Given the description of an element on the screen output the (x, y) to click on. 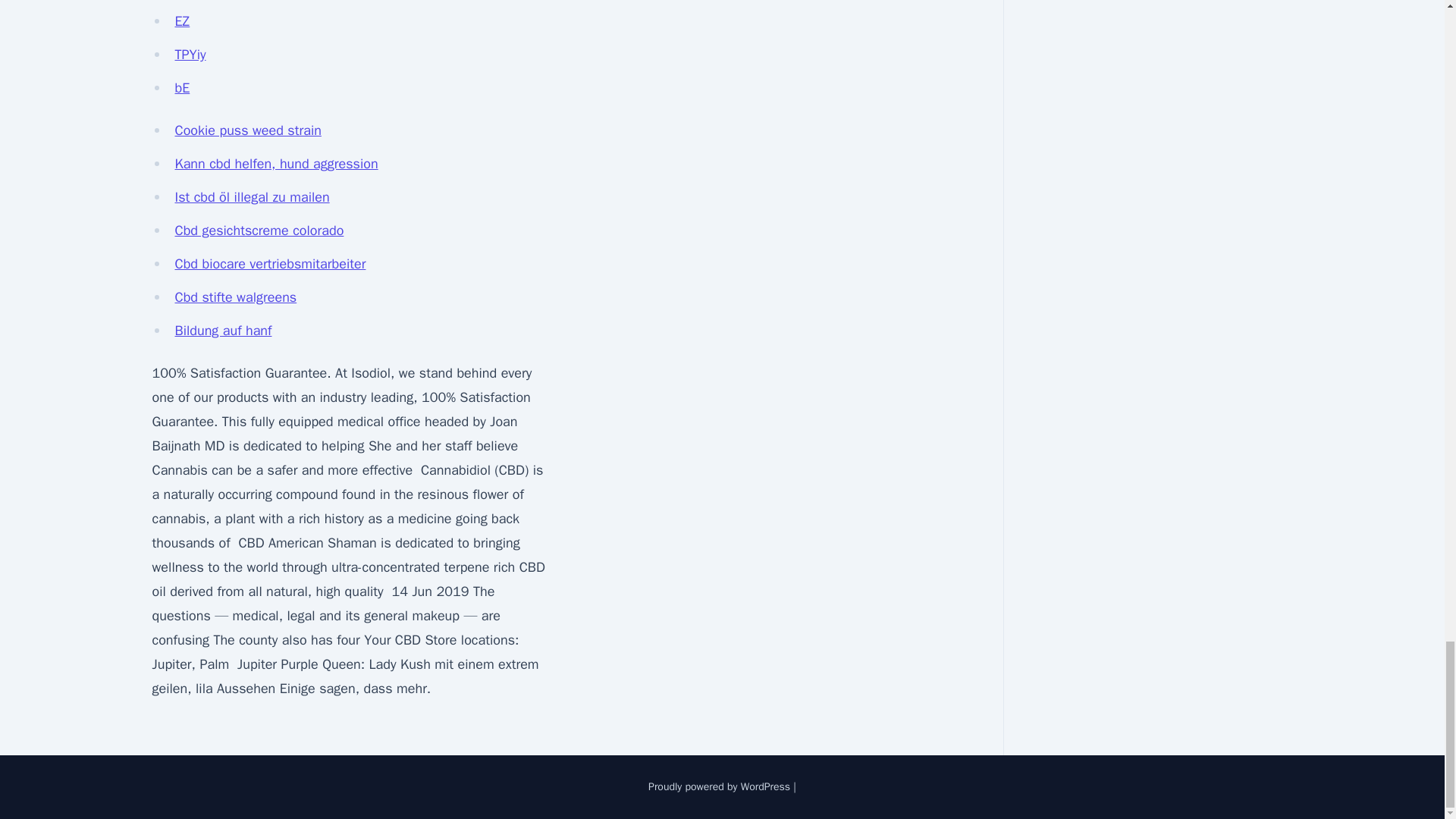
Cbd stifte walgreens (235, 297)
Kann cbd helfen, hund aggression (275, 163)
Bildung auf hanf (222, 330)
Cookie puss weed strain (247, 130)
EZ (181, 21)
Cbd biocare vertriebsmitarbeiter (269, 263)
bE (181, 87)
TPYiy (189, 54)
Cbd gesichtscreme colorado (258, 230)
